Given the description of an element on the screen output the (x, y) to click on. 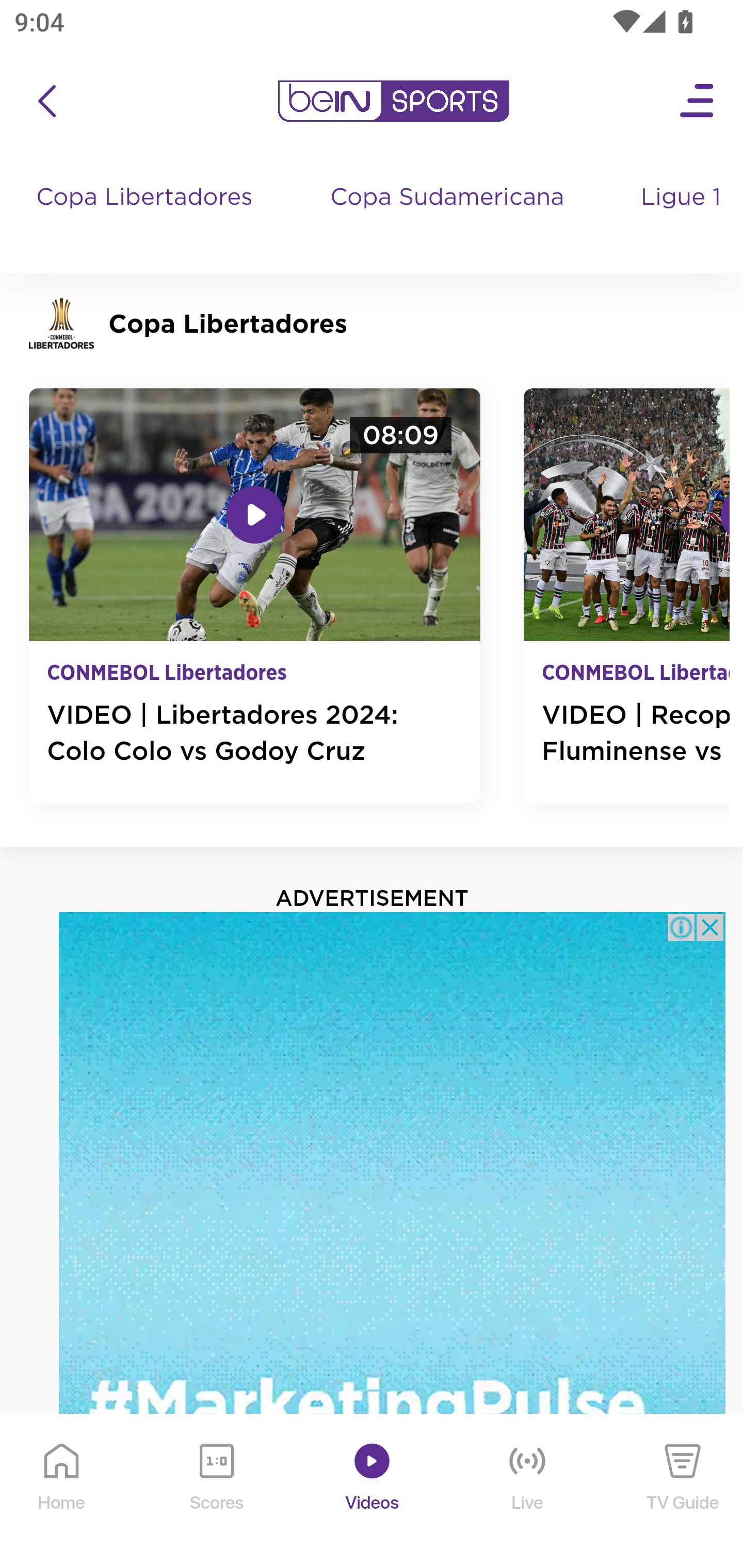
en-us?platform=mobile_android bein logo (392, 101)
icon back (46, 101)
Open Menu Icon (697, 101)
Copa Libertadores (146, 216)
Copa Sudamericana (448, 216)
Ligue 1 (682, 216)
Home Home Icon Home (61, 1491)
Scores Scores Icon Scores (216, 1491)
Videos Videos Icon Videos (372, 1491)
TV Guide TV Guide Icon TV Guide (682, 1491)
